Given the description of an element on the screen output the (x, y) to click on. 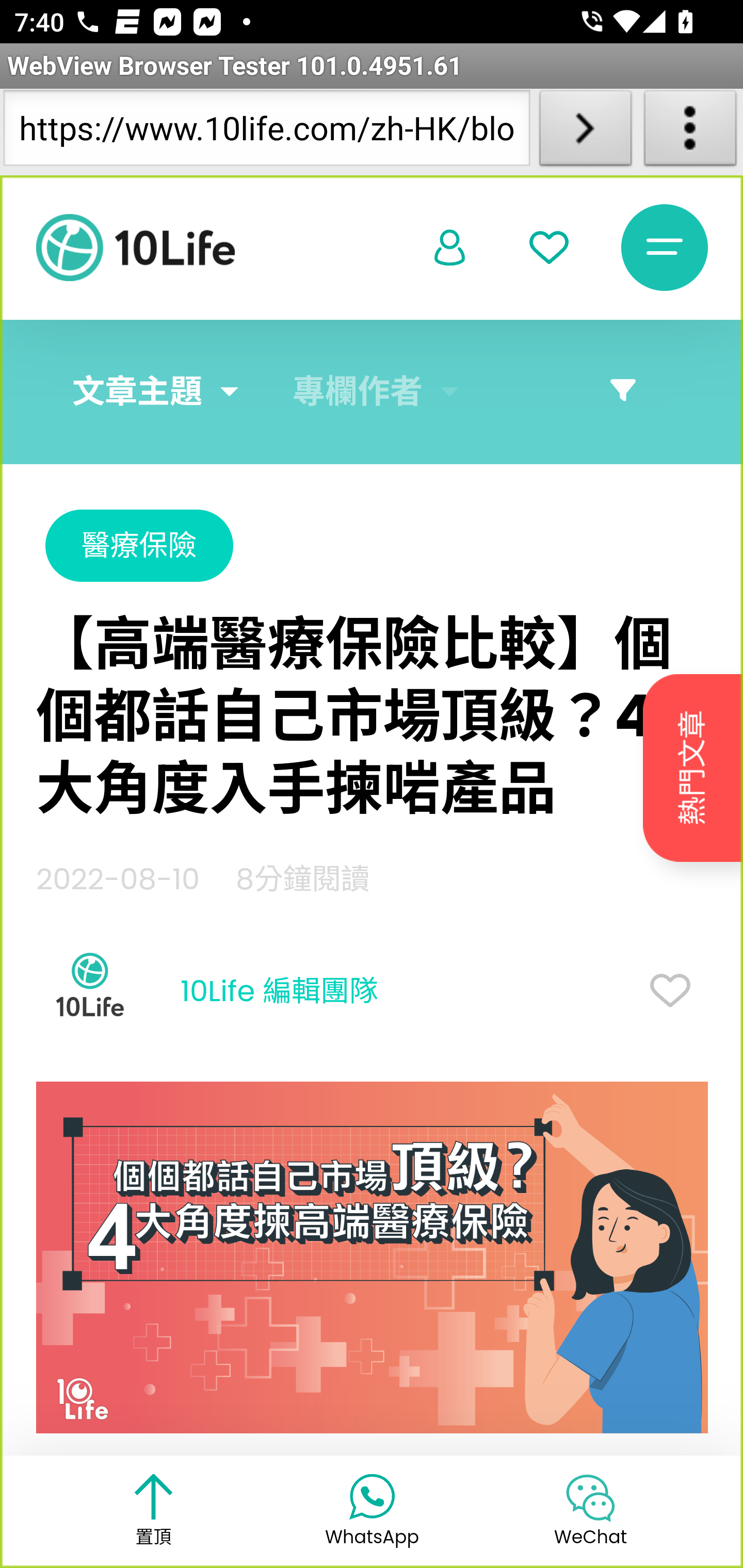
Load URL (585, 132)
About WebView (690, 132)
tenlife-normal-logo.43ea159 (135, 247)
javascript:void(0); profile_default.520744e (449, 248)
javascript:void(0); favourite_default.17e2042 (549, 247)
文章主題 專欄作者 (371, 391)
文章主題 (137, 391)
專欄作者 (358, 391)
10Life Logo 10Life 編輯團隊 10Life Logo 10Life 編輯團隊 (207, 992)
Whatsapp icon (371, 1494)
WeChat icon (589, 1497)
